Given the description of an element on the screen output the (x, y) to click on. 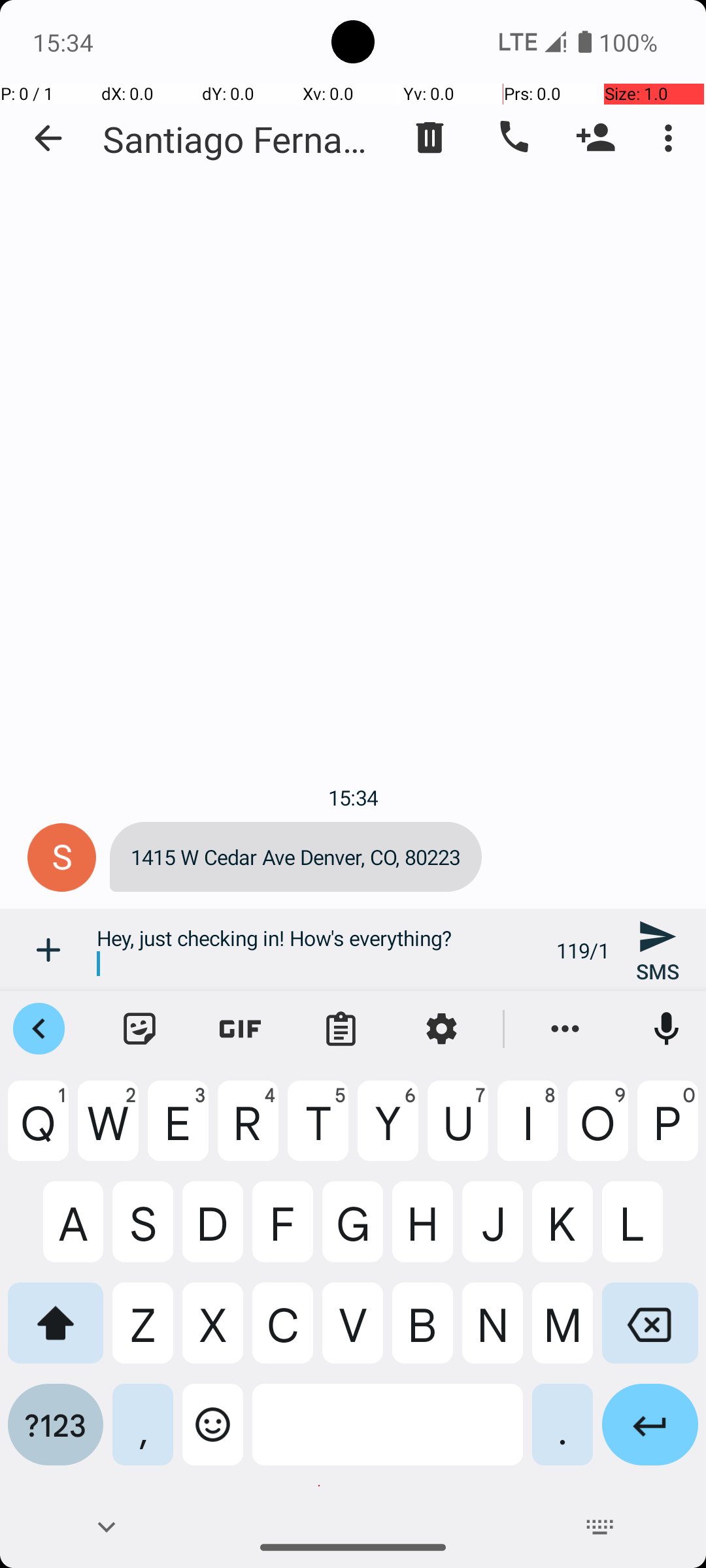
Santiago Fernandez Element type: android.widget.TextView (241, 138)
Hey, just checking in! How's everything?
 Element type: android.widget.EditText (318, 949)
119/1 Element type: android.widget.TextView (582, 950)
1415 W Cedar Ave Denver, CO, 80223 Element type: android.widget.TextView (295, 856)
